Given the description of an element on the screen output the (x, y) to click on. 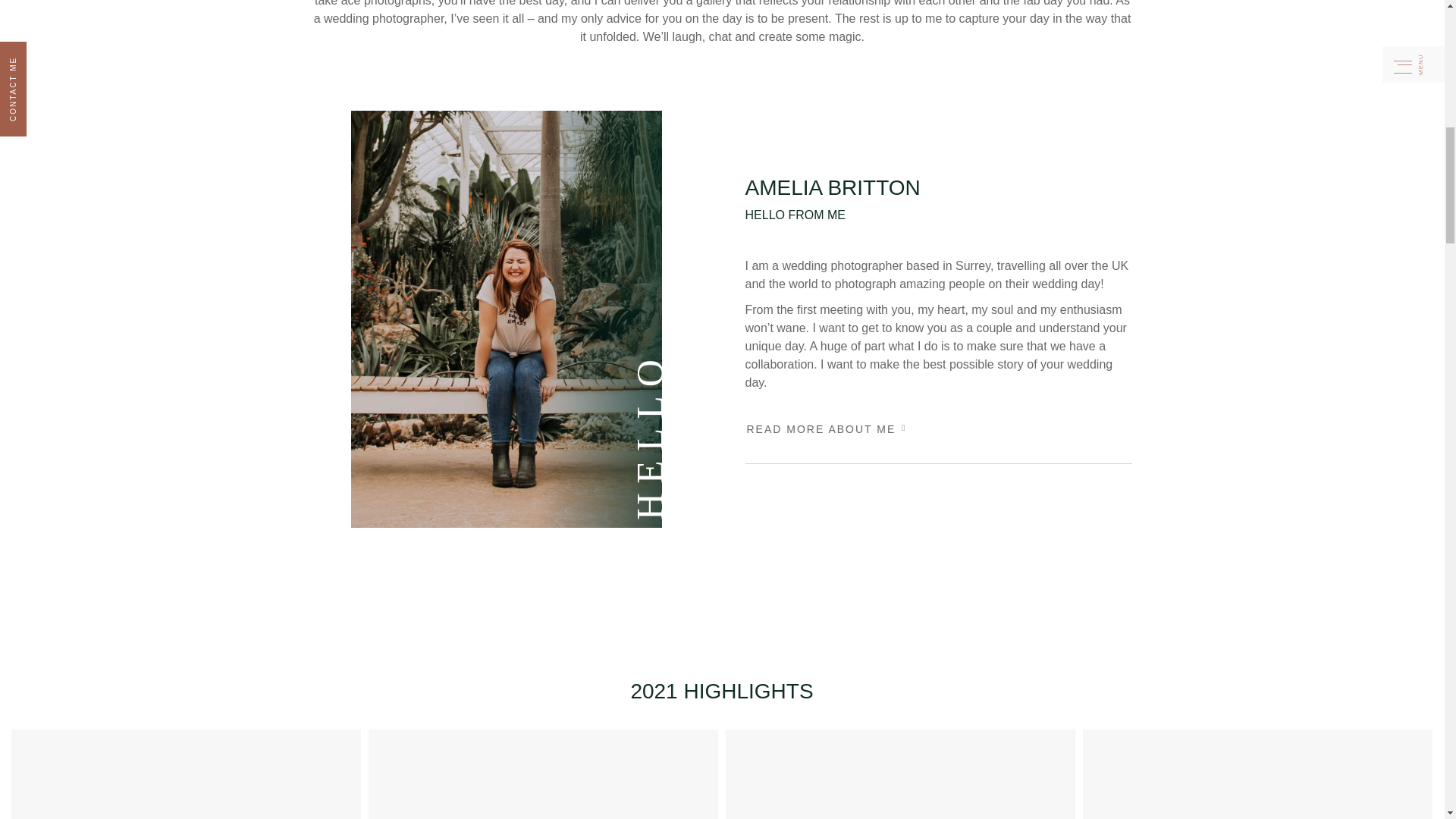
Weddings (937, 428)
